Given the description of an element on the screen output the (x, y) to click on. 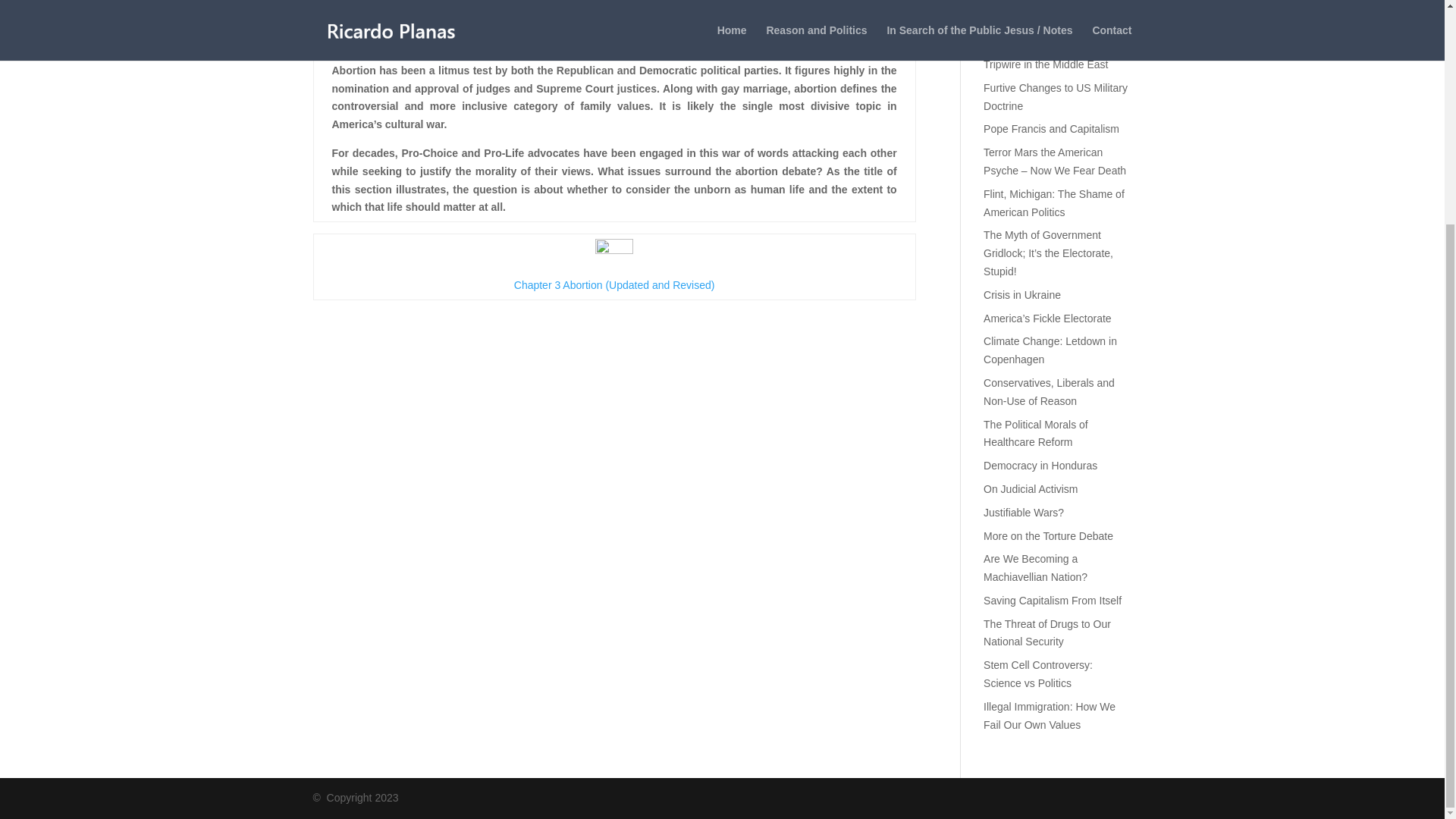
Israel: U.S. Inadvertent Tripwire in the Middle East (1046, 55)
Justifiable Wars? (1024, 512)
Pope Francis and Capitalism (1051, 128)
Political Debates Deceive the Electorate (1052, 14)
Stem Cell Controversy: Science vs Politics (1038, 674)
Democracy in Honduras (1040, 465)
More on the Torture Debate (1048, 535)
The Threat of Drugs to Our National Security (1047, 633)
Crisis in Ukraine (1022, 295)
Are We Becoming a Machiavellian Nation? (1035, 567)
On Judicial Activism (1030, 489)
Conservatives, Liberals and Non-Use of Reason (1049, 391)
Saving Capitalism From Itself (1052, 600)
Furtive Changes to US Military Doctrine (1055, 96)
Climate Change: Letdown in Copenhagen (1050, 349)
